Given the description of an element on the screen output the (x, y) to click on. 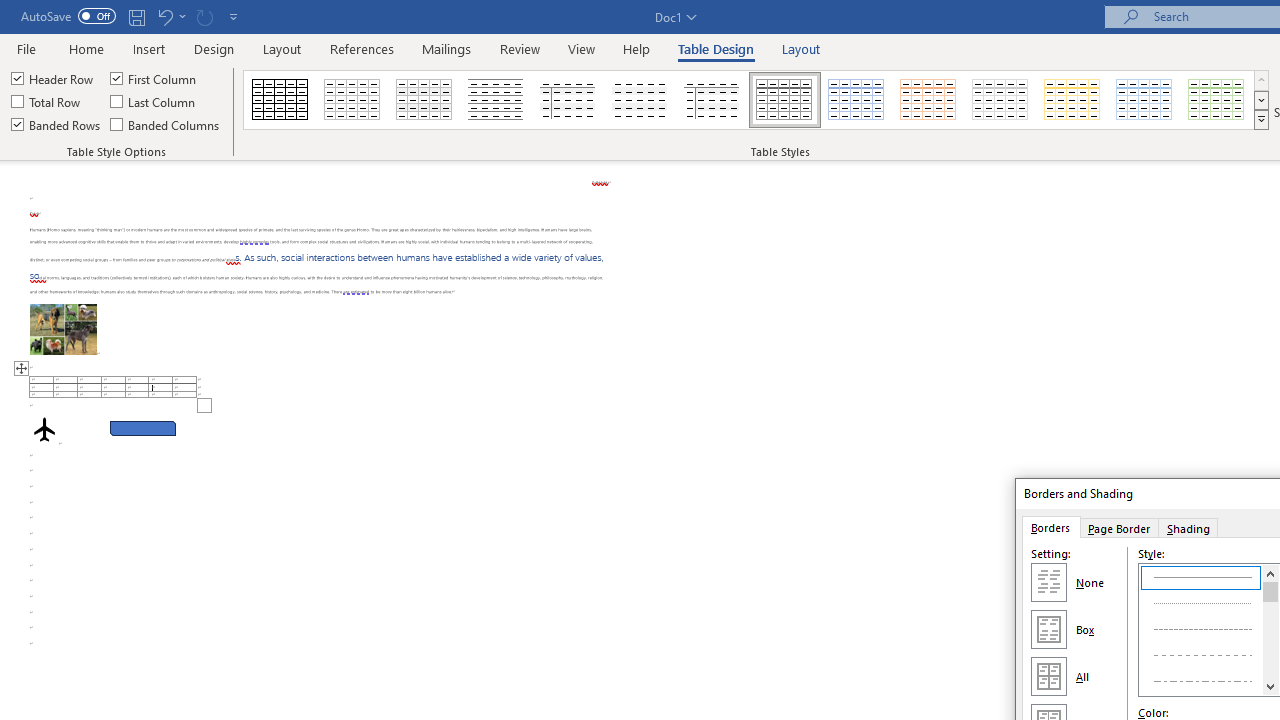
References (362, 48)
Grid Table 1 Light - Accent 1 (856, 100)
Plain Table 3 (568, 100)
Page down (1270, 639)
Borders (1050, 527)
Total Row (47, 101)
All (1048, 676)
Morphological variation in six dogs (63, 328)
Line down (1270, 686)
Grid Table 1 Light - Accent 6 (1217, 100)
Table Design (715, 48)
Design (214, 48)
Plain Table 1 (424, 100)
Grid Table 1 Light - Accent 5 (1144, 100)
Grid Table 1 Light - Accent 2 (929, 100)
